Given the description of an element on the screen output the (x, y) to click on. 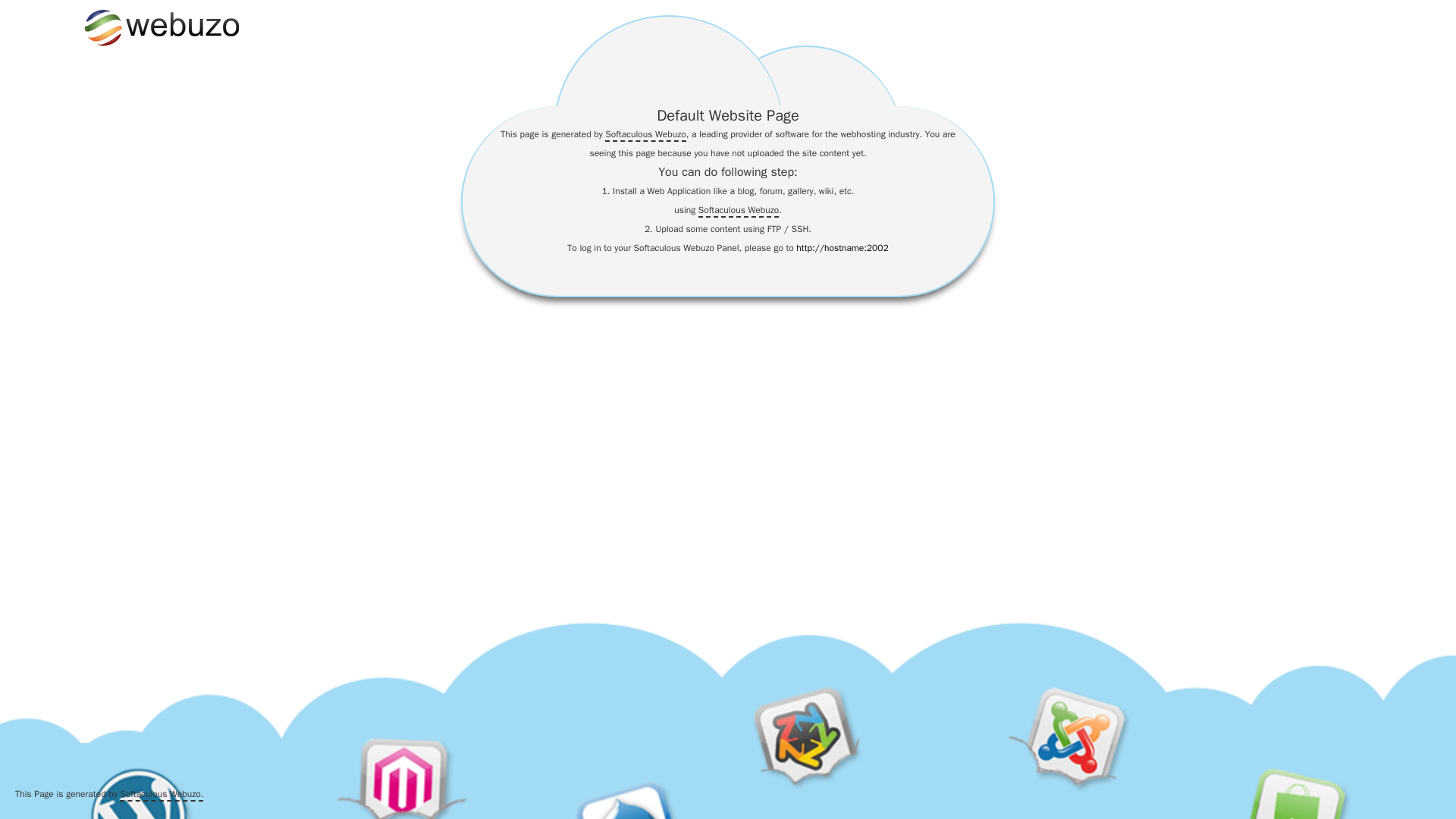
Softaculous Webuzo (645, 134)
Softaculous Webuzo (738, 210)
